Given the description of an element on the screen output the (x, y) to click on. 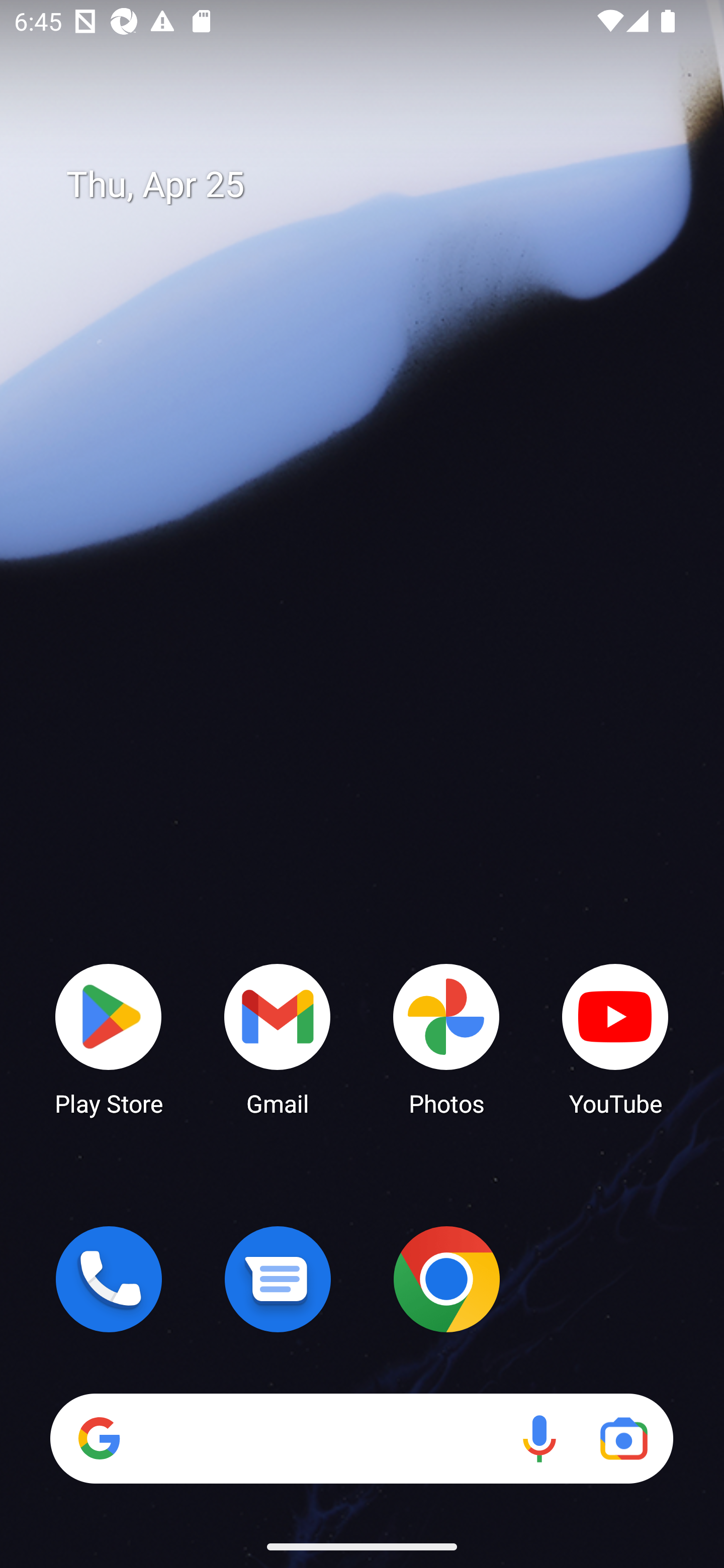
Thu, Apr 25 (375, 184)
Play Store (108, 1038)
Gmail (277, 1038)
Photos (445, 1038)
YouTube (615, 1038)
Phone (108, 1279)
Messages (277, 1279)
Chrome (446, 1279)
Search Voice search Google Lens (361, 1438)
Voice search (539, 1438)
Google Lens (623, 1438)
